Given the description of an element on the screen output the (x, y) to click on. 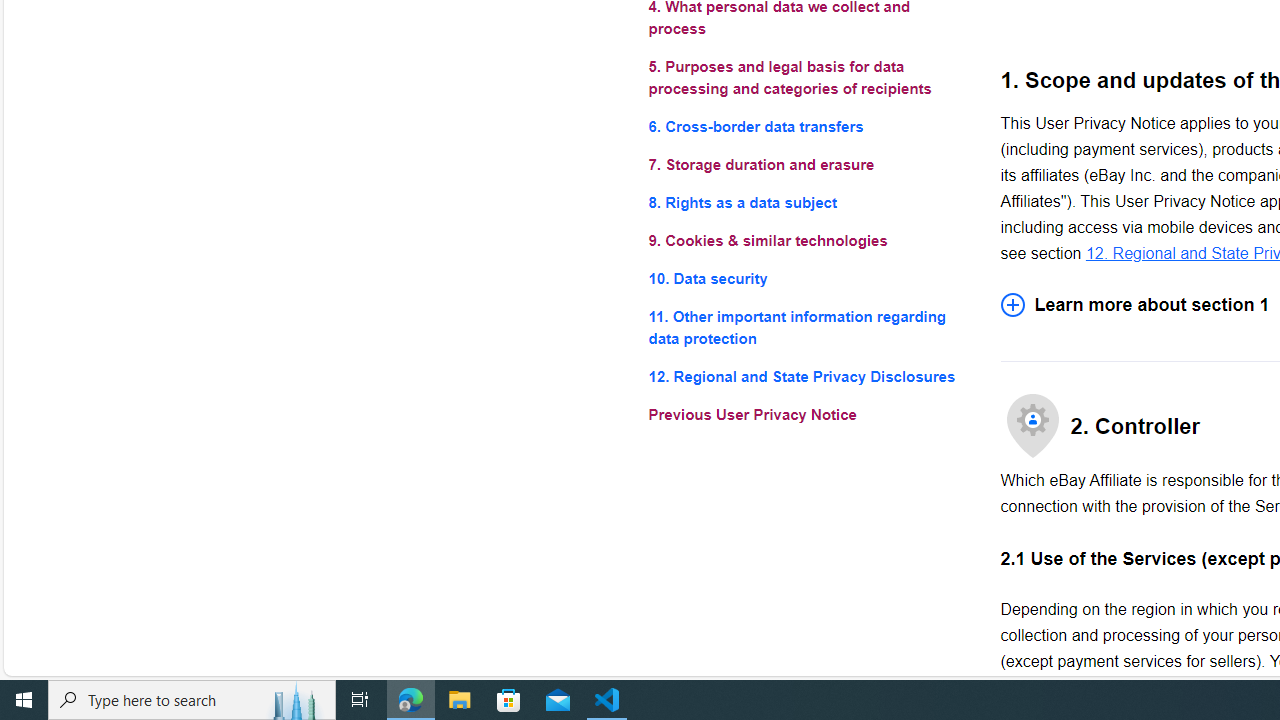
6. Cross-border data transfers (807, 126)
7. Storage duration and erasure (807, 164)
9. Cookies & similar technologies (807, 240)
7. Storage duration and erasure (807, 164)
8. Rights as a data subject (807, 203)
12. Regional and State Privacy Disclosures (807, 376)
9. Cookies & similar technologies (807, 240)
6. Cross-border data transfers (807, 126)
11. Other important information regarding data protection (807, 328)
Previous User Privacy Notice (807, 414)
Previous User Privacy Notice (807, 414)
11. Other important information regarding data protection (807, 328)
12. Regional and State Privacy Disclosures (807, 376)
